Given the description of an element on the screen output the (x, y) to click on. 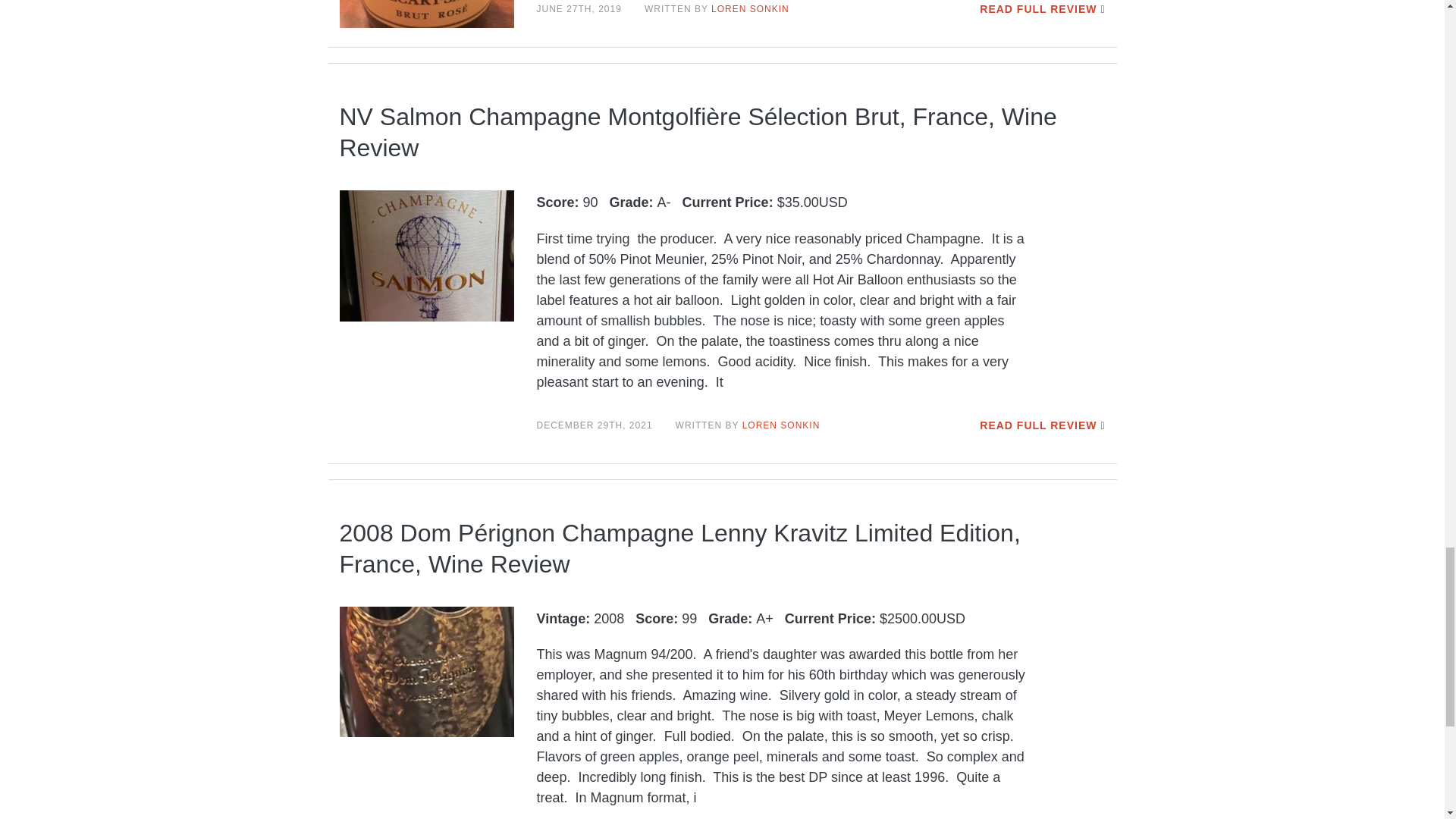
LOREN SONKIN (781, 425)
View user profile. (781, 425)
LOREN SONKIN (750, 9)
READ FULL REVIEW (1037, 9)
View user profile. (750, 9)
READ FULL REVIEW (1037, 425)
